Given the description of an element on the screen output the (x, y) to click on. 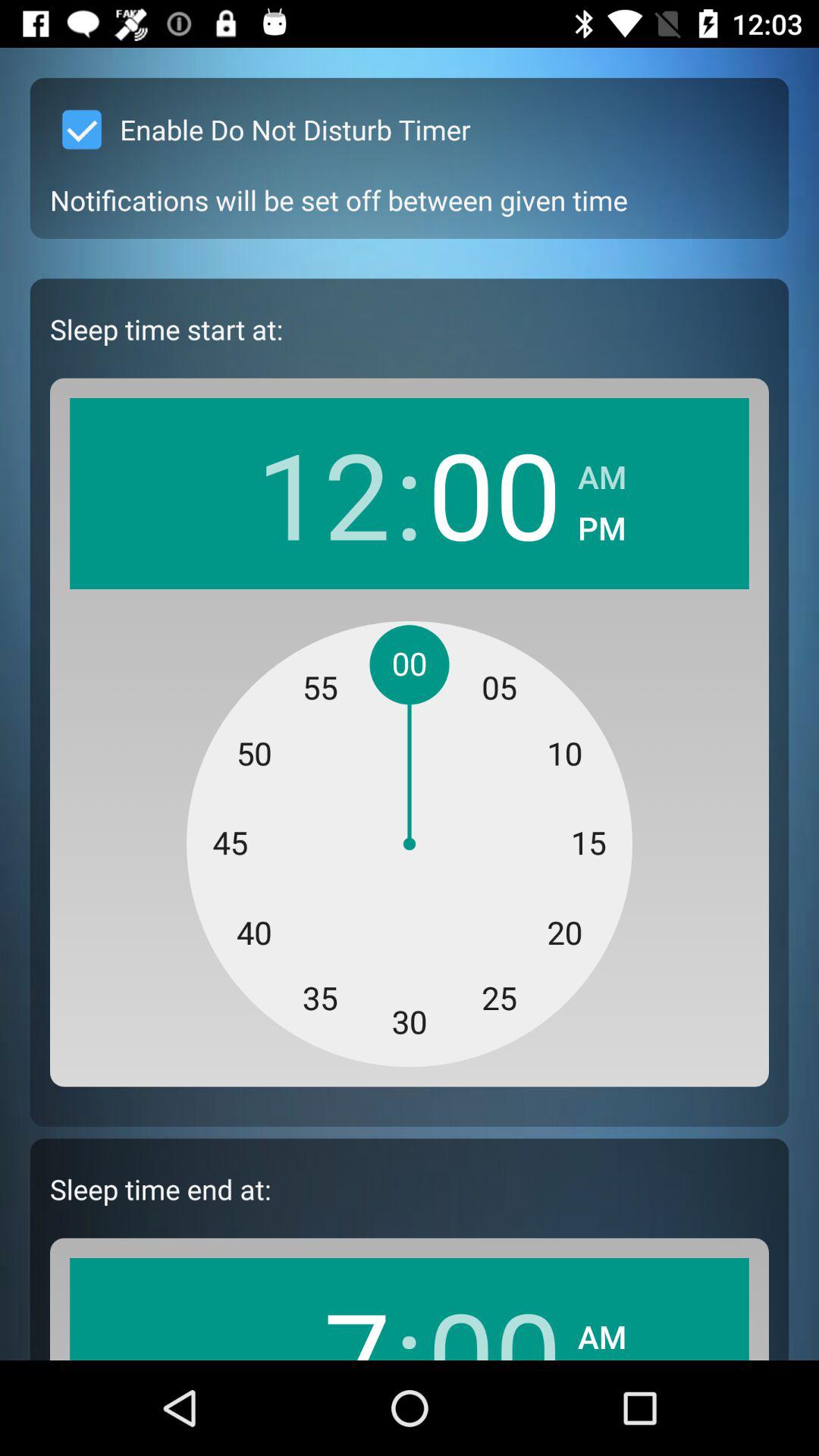
flip until the 7 (323, 1317)
